Given the description of an element on the screen output the (x, y) to click on. 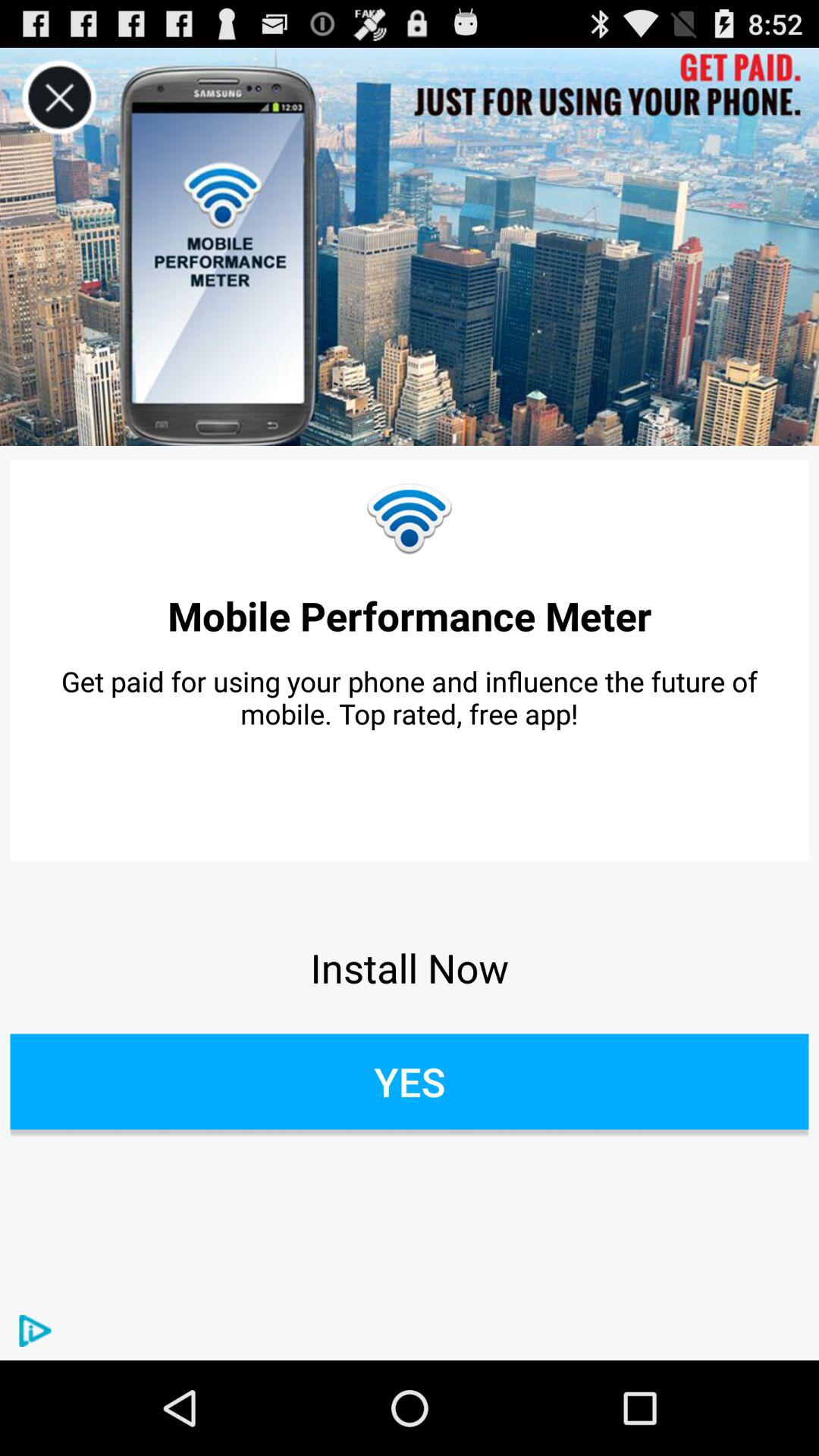
select the icon below the mobile performance meter item (409, 697)
